Given the description of an element on the screen output the (x, y) to click on. 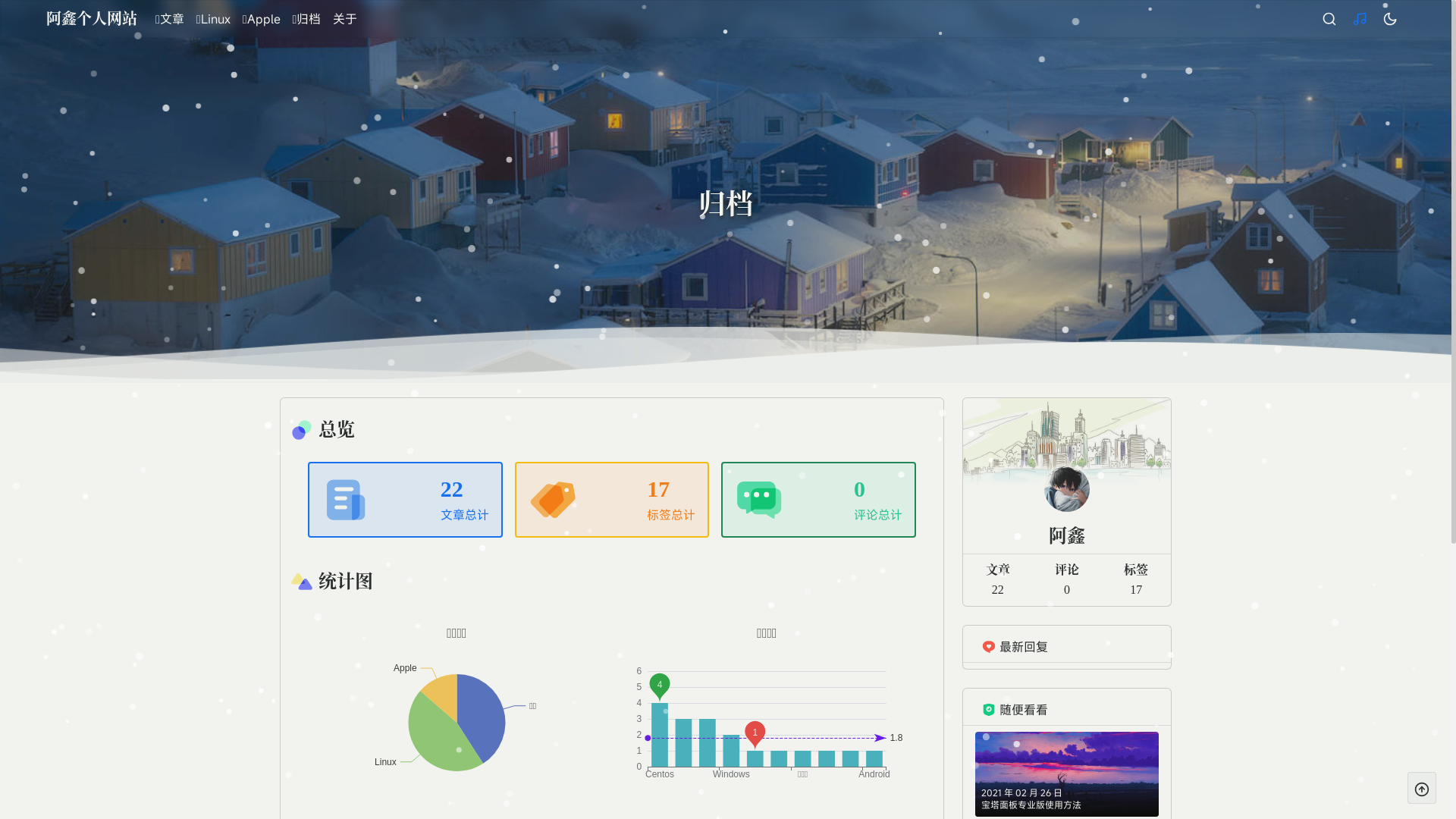
0 Element type: text (1389, 18)
